Given the description of an element on the screen output the (x, y) to click on. 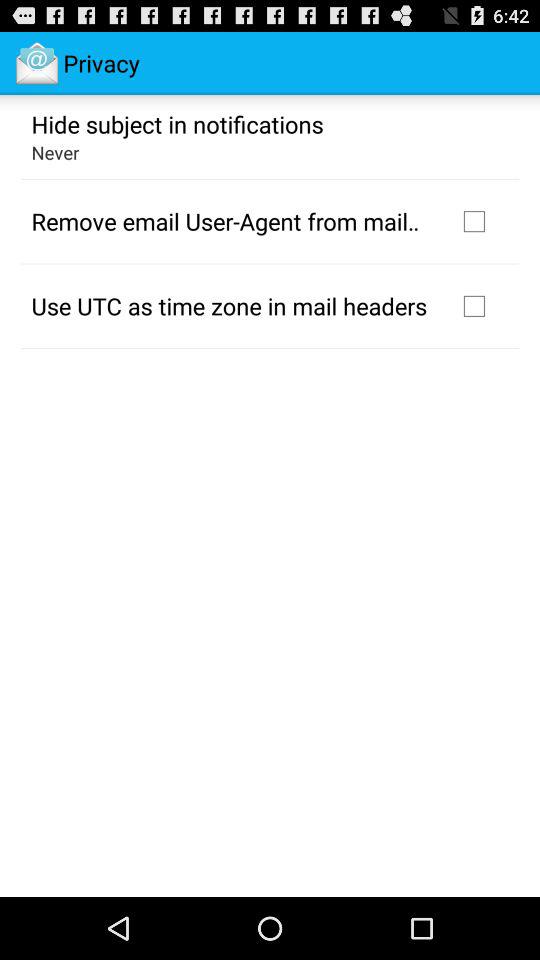
press remove email user item (231, 221)
